Given the description of an element on the screen output the (x, y) to click on. 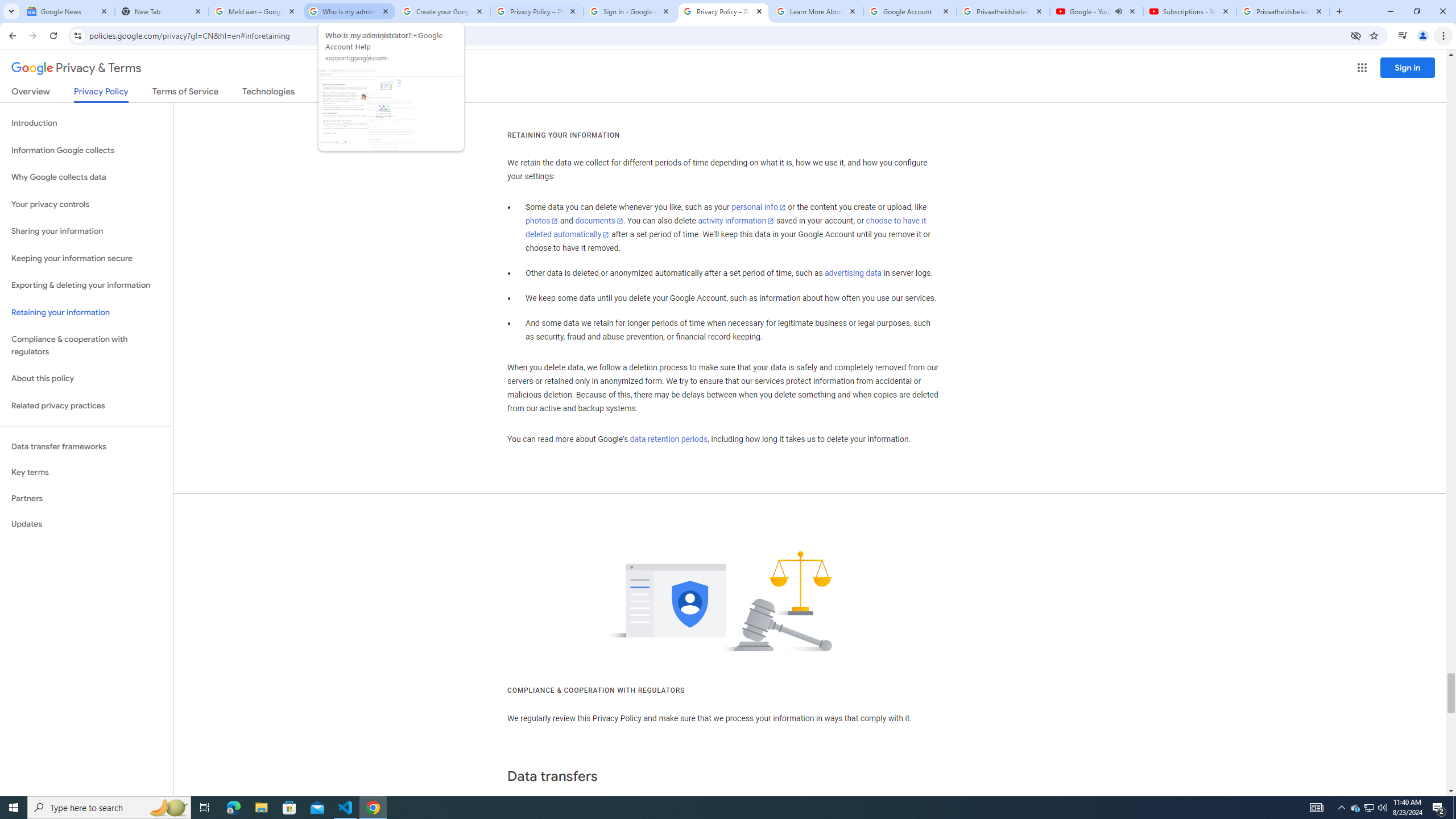
photos (542, 221)
activity information (735, 221)
advertising data (852, 273)
Related privacy practices (86, 405)
Sign in - Google Accounts (629, 11)
Who is my administrator? - Google Account Help (349, 11)
